Given the description of an element on the screen output the (x, y) to click on. 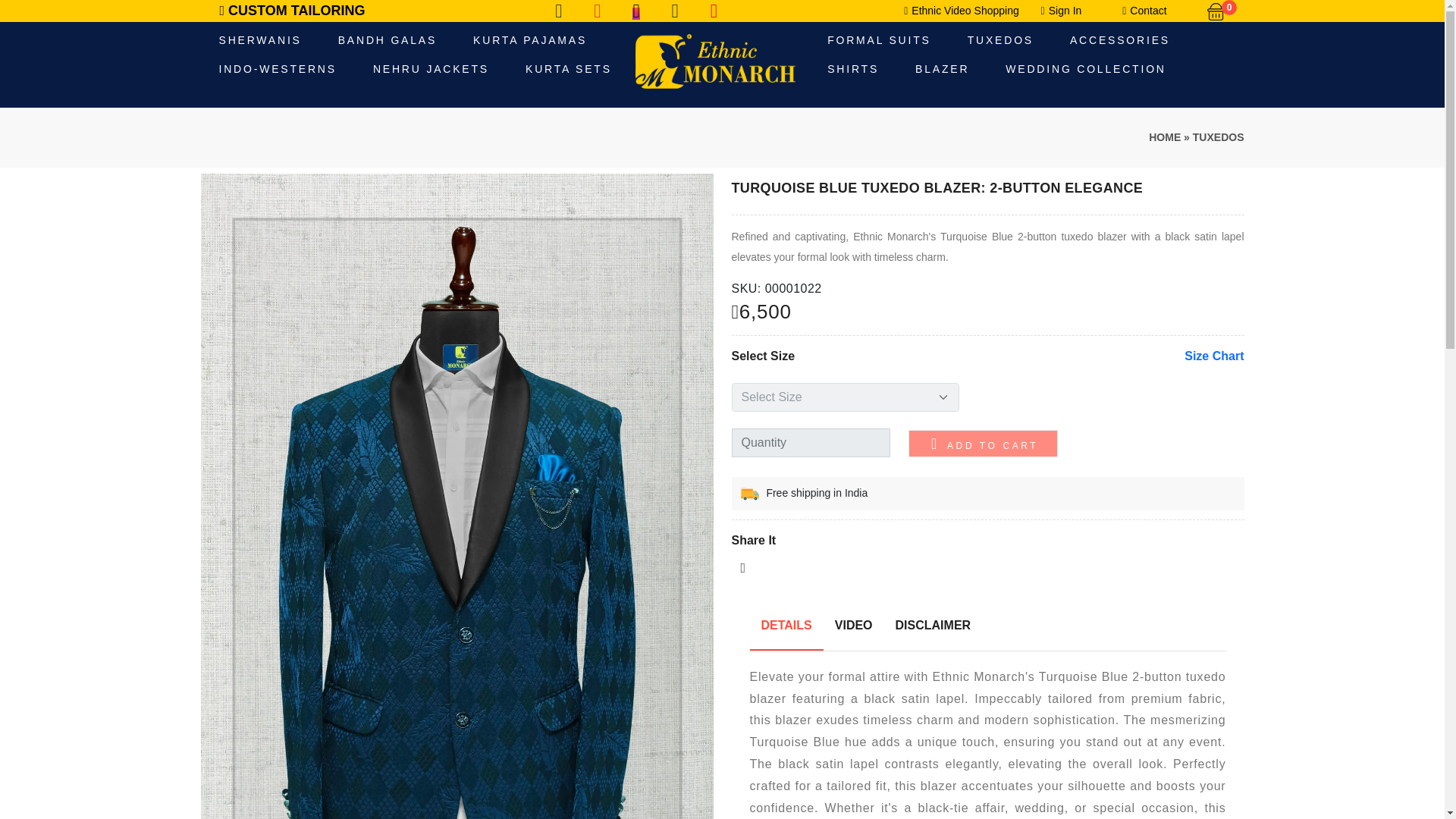
TUXEDOS (1218, 137)
TUXEDOS (1000, 40)
WEDDING COLLECTION (1085, 69)
CUSTOM TAILORING (292, 10)
KURTA SETS (568, 69)
ACCESSORIES (1119, 40)
SHIRTS (852, 69)
BANDH GALAS (387, 40)
NEHRU JACKETS (430, 69)
KURTA PAJAMAS (529, 40)
